Given the description of an element on the screen output the (x, y) to click on. 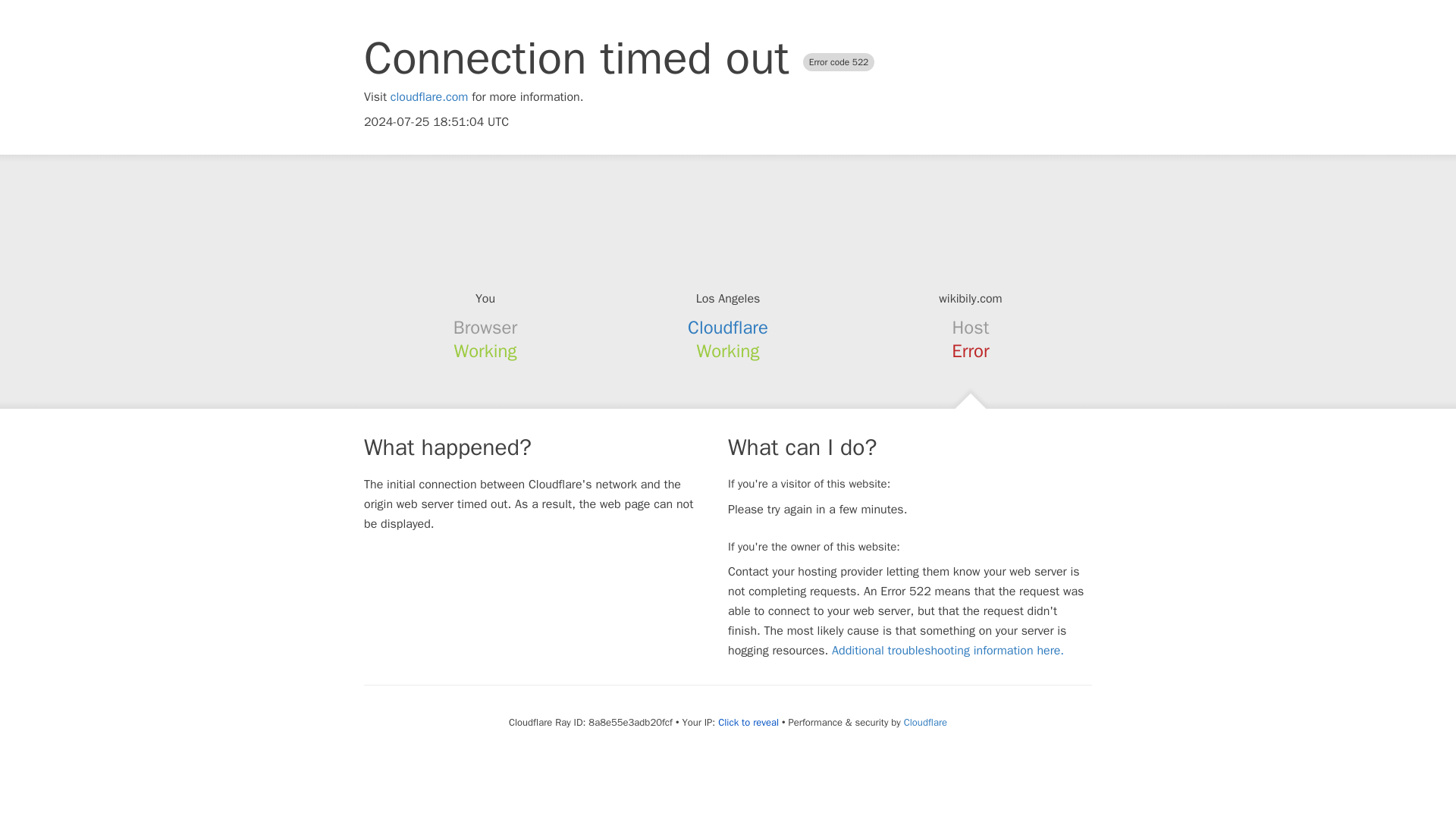
Click to reveal (747, 722)
Additional troubleshooting information here. (947, 650)
Cloudflare (925, 721)
cloudflare.com (429, 96)
Cloudflare (727, 327)
